Given the description of an element on the screen output the (x, y) to click on. 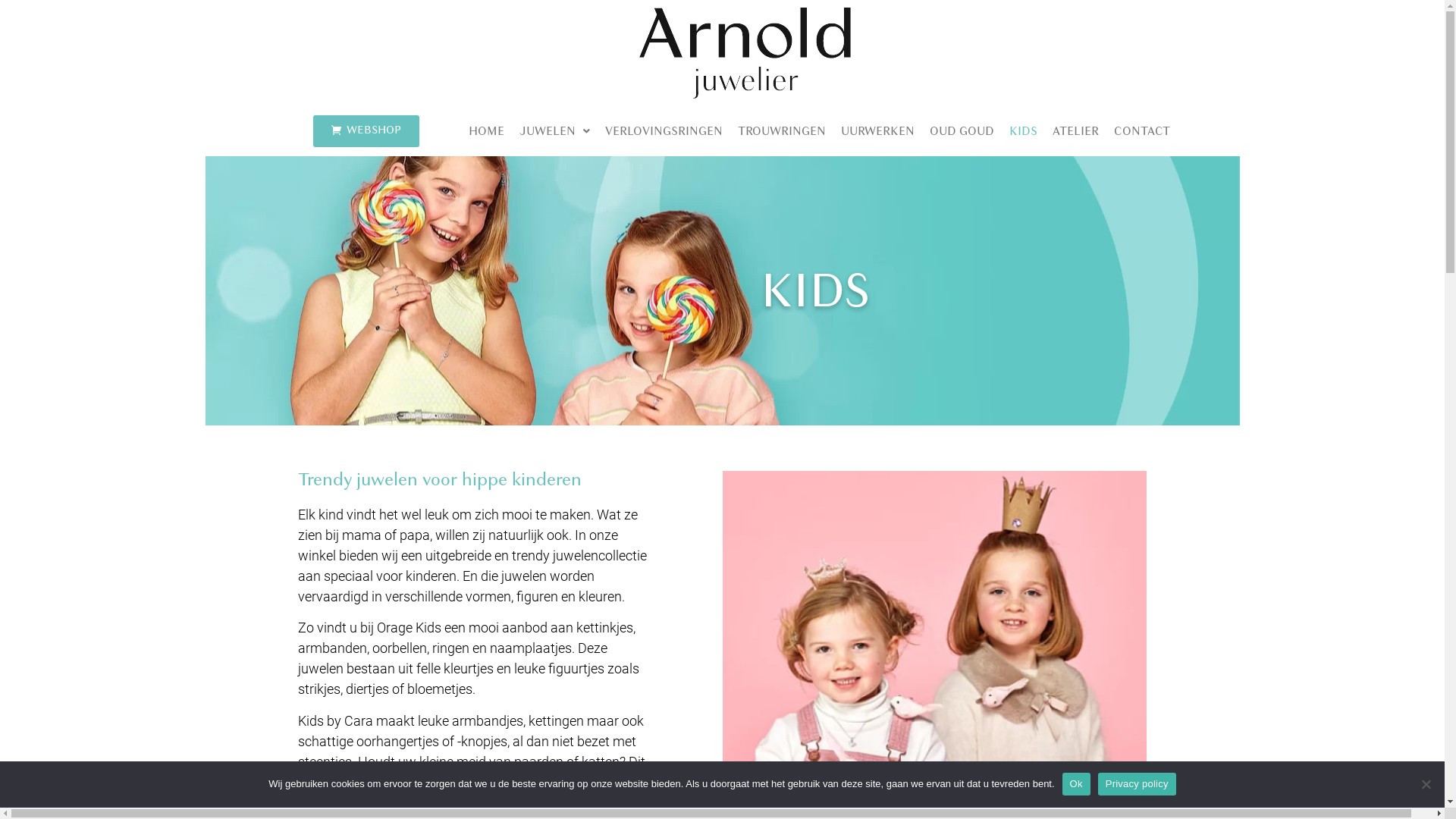
JUWELEN Element type: text (553, 130)
VERLOVINGSRINGEN Element type: text (663, 130)
HOME Element type: text (486, 130)
No Element type: hover (1425, 783)
KIDS Element type: text (1022, 130)
CONTACT Element type: text (1140, 130)
Ok Element type: text (1076, 782)
Privacy policy Element type: text (1137, 782)
ATELIER Element type: text (1075, 130)
WEBSHOP Element type: text (365, 131)
UURWERKEN Element type: text (876, 130)
TROUWRINGEN Element type: text (780, 130)
OUD GOUD Element type: text (961, 130)
